Given the description of an element on the screen output the (x, y) to click on. 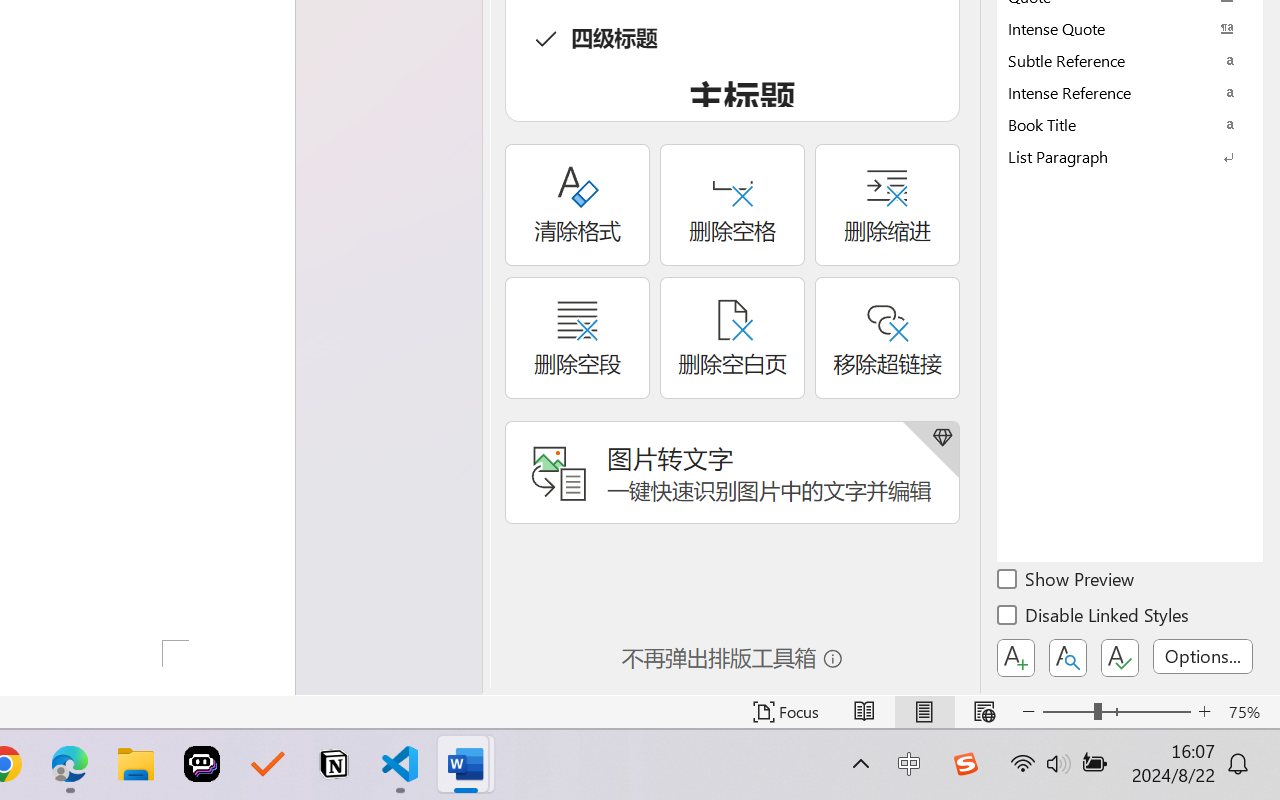
Class: Image (965, 764)
Read Mode (864, 712)
Show Preview (1067, 582)
Subtle Reference (1130, 60)
Web Layout (984, 712)
Class: NetUIButton (1119, 657)
Print Layout (924, 712)
Book Title (1130, 124)
